Given the description of an element on the screen output the (x, y) to click on. 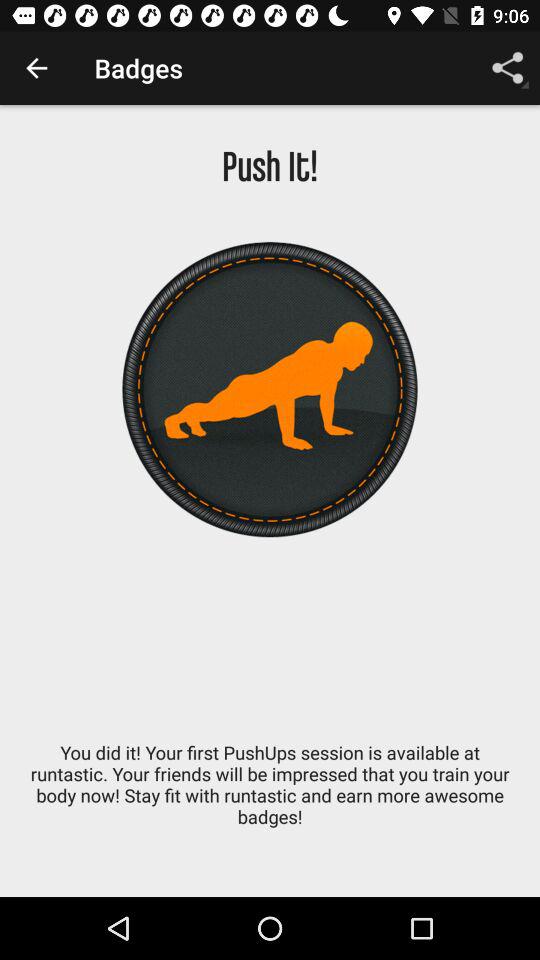
turn off item next to badges item (508, 67)
